Given the description of an element on the screen output the (x, y) to click on. 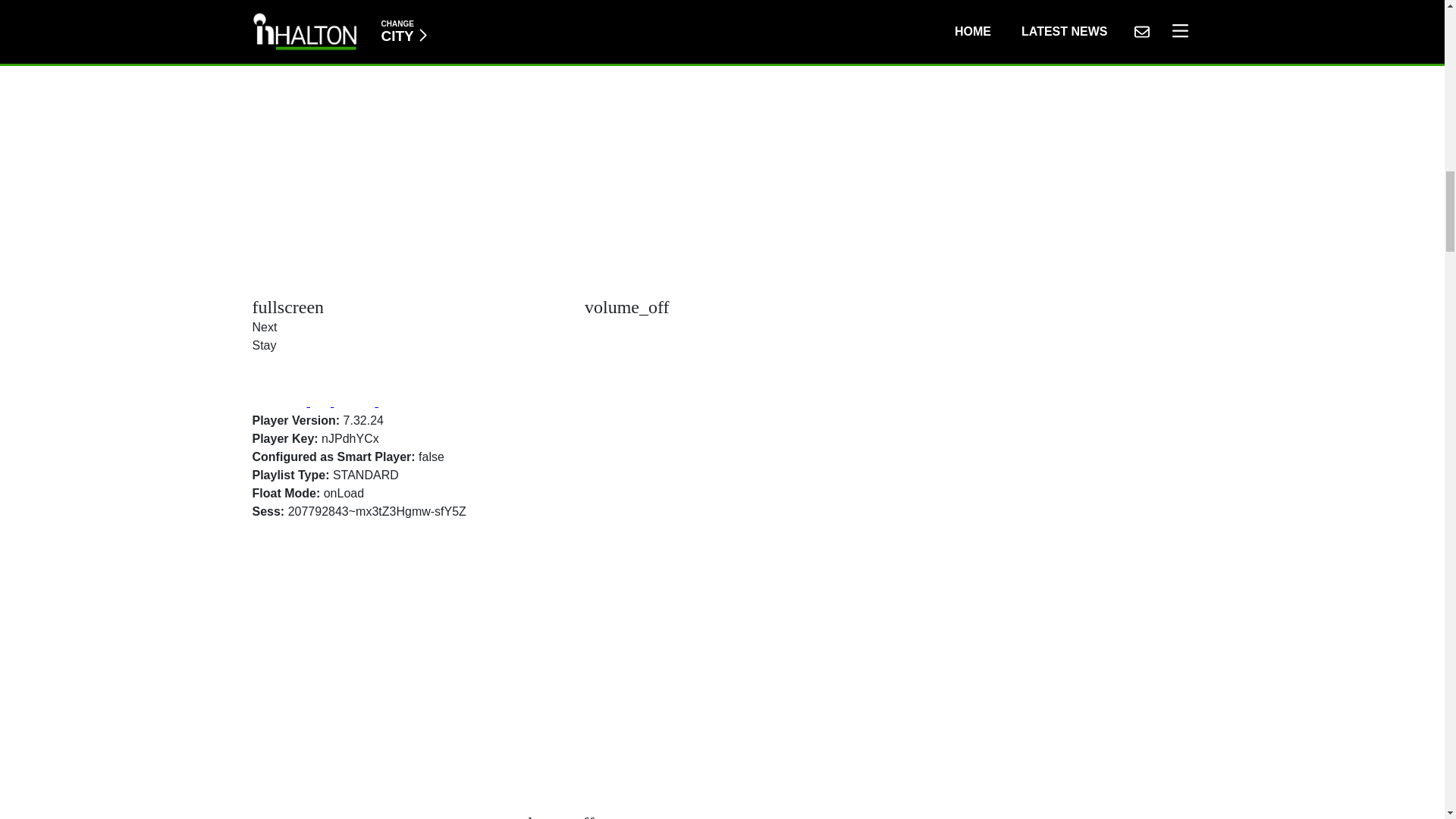
Advertisement (402, 76)
